Given the description of an element on the screen output the (x, y) to click on. 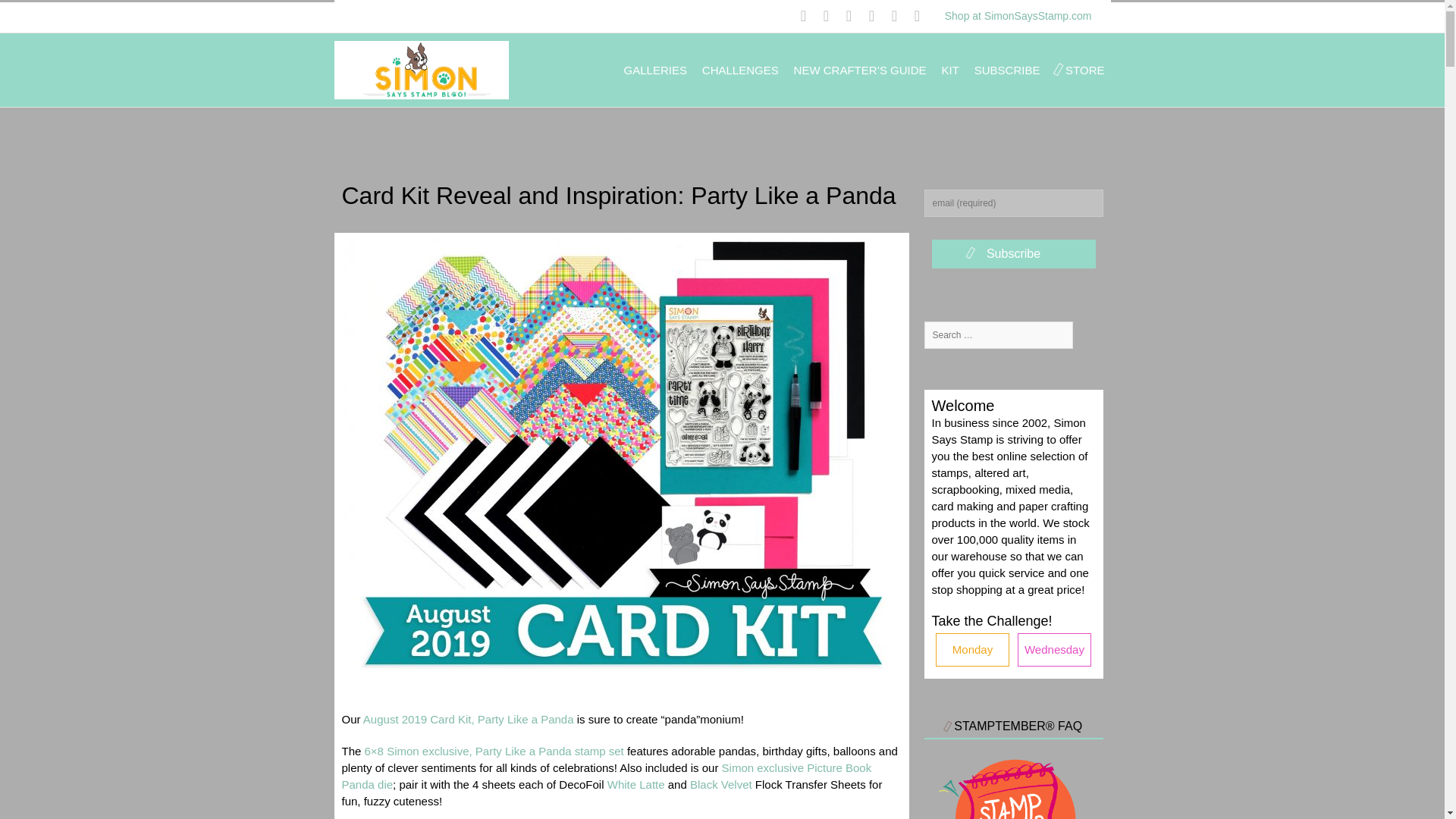
CHALLENGES (739, 69)
White Latte (636, 784)
SUBSCRIBE (1007, 69)
Search (1086, 334)
Subscribe (1012, 253)
KIT (950, 69)
Search (1086, 334)
August 2019 Card Kit, Party Like a Panda (467, 718)
Simon exclusive Picture Book Panda die (605, 776)
Shop at SimonSaysStamp.com (1018, 15)
